Given the description of an element on the screen output the (x, y) to click on. 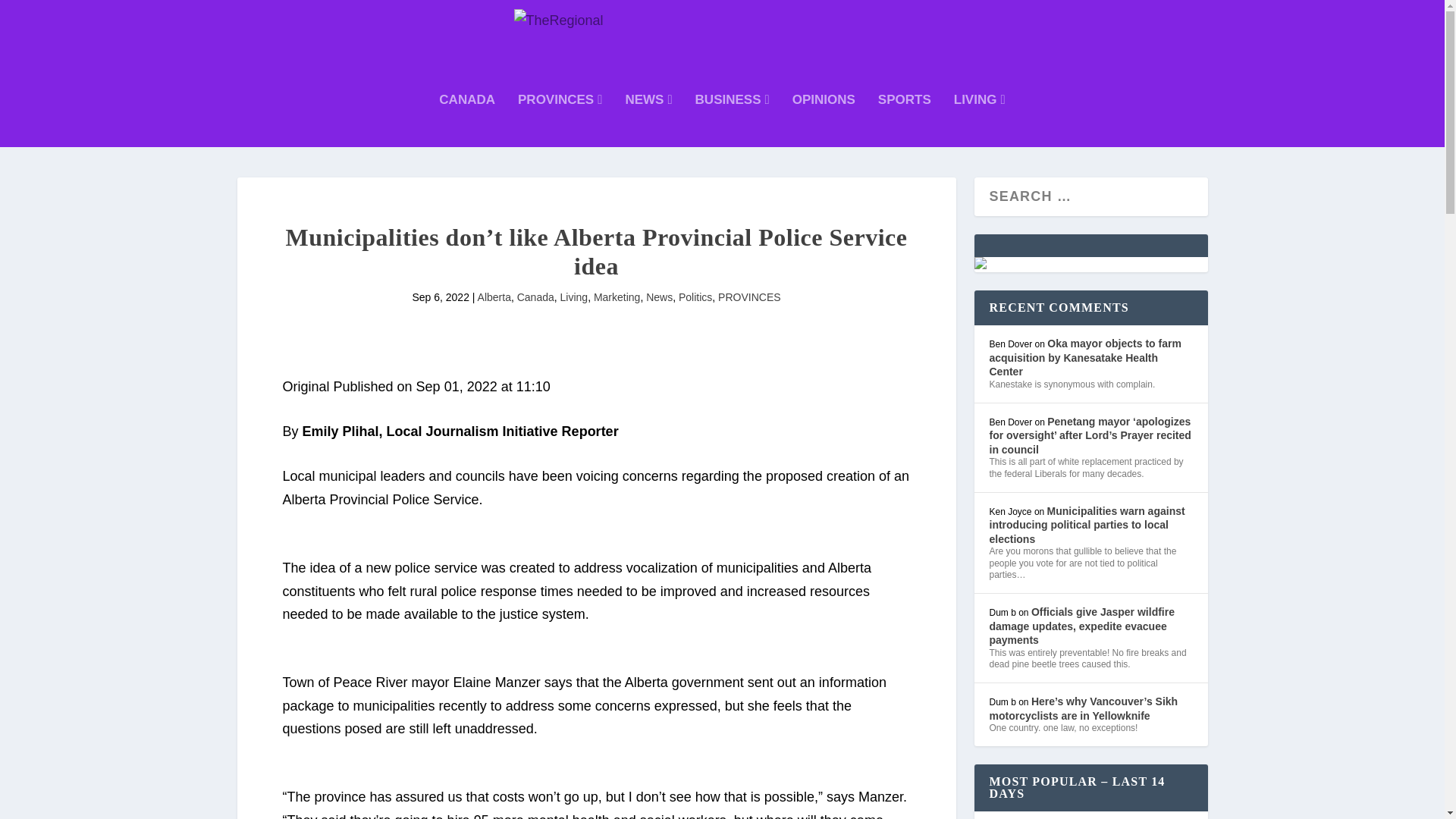
Politics (694, 297)
OPINIONS (824, 120)
Alberta (494, 297)
SPORTS (904, 120)
Living (574, 297)
Marketing (617, 297)
BUSINESS (732, 120)
CANADA (467, 120)
PROVINCES (560, 120)
LIVING (979, 120)
News (659, 297)
PROVINCES (748, 297)
Canada (535, 297)
